Given the description of an element on the screen output the (x, y) to click on. 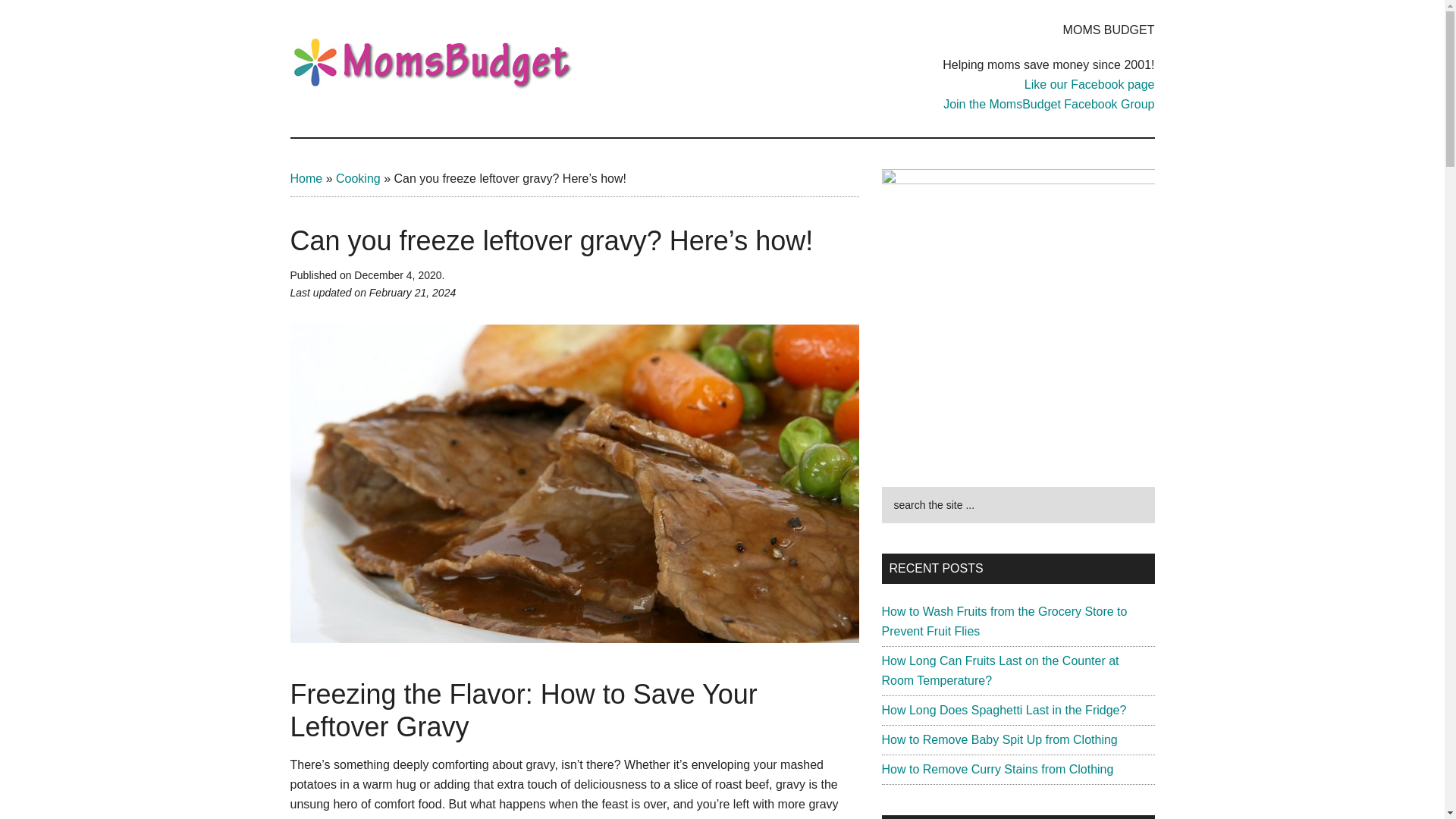
Join the MomsBudget Facebook Group (1048, 103)
How Long Can Fruits Last on the Counter at Room Temperature? (999, 670)
How to Remove Curry Stains from Clothing (996, 768)
Cooking (358, 178)
Home (305, 178)
How Long Does Spaghetti Last in the Fridge? (1002, 709)
